Given the description of an element on the screen output the (x, y) to click on. 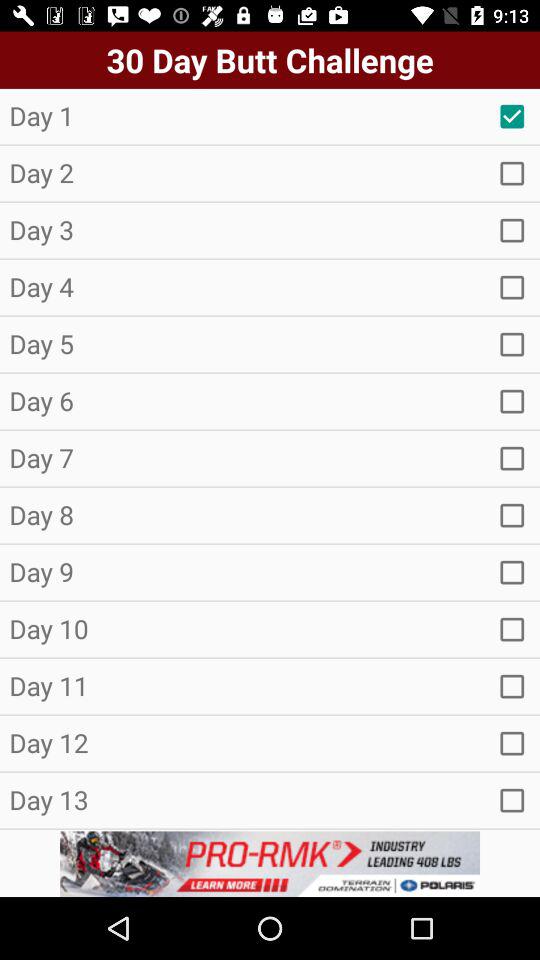
choose the option (512, 344)
